Given the description of an element on the screen output the (x, y) to click on. 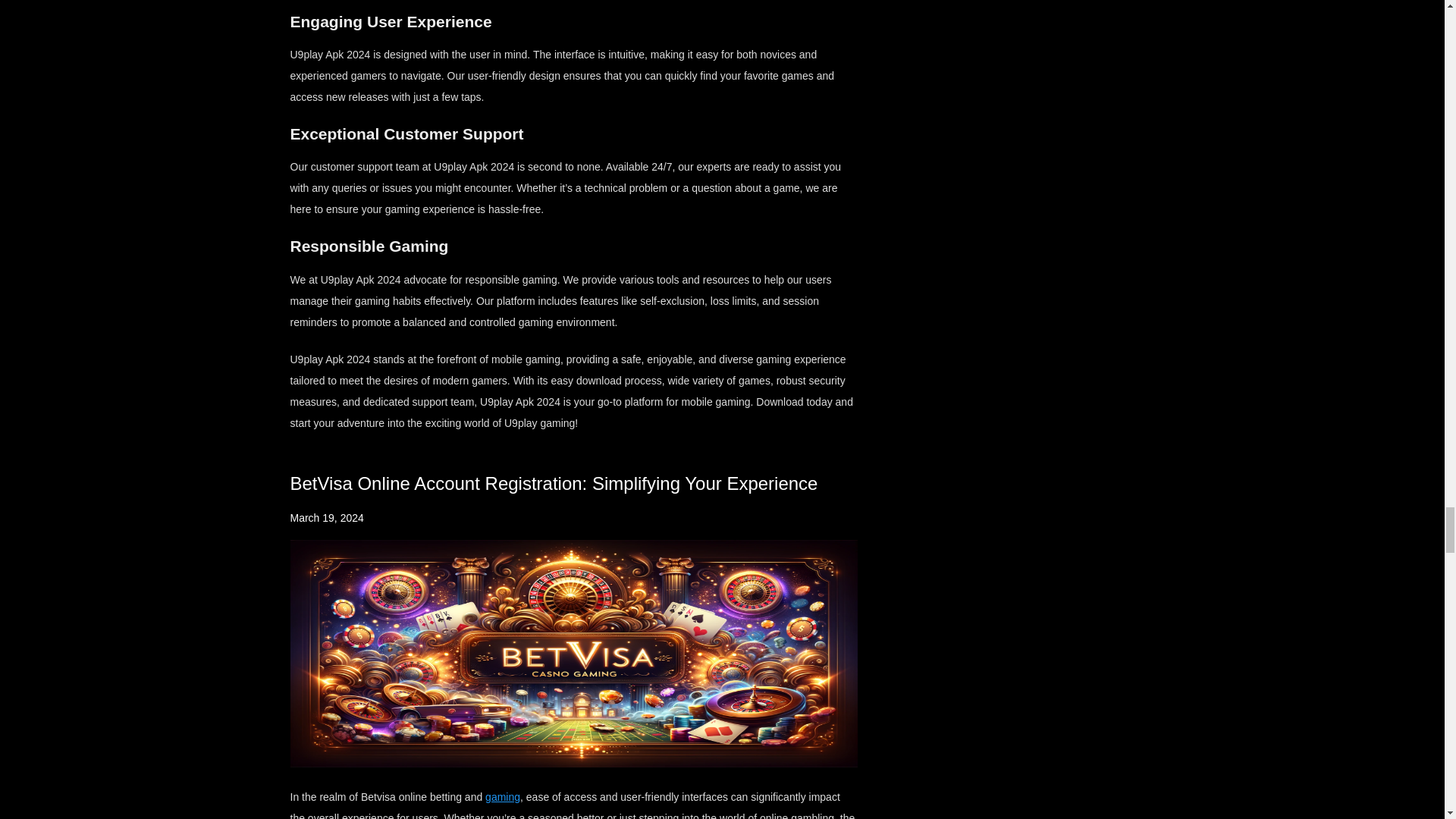
gaming (501, 797)
March 19, 2024 (325, 517)
